Given the description of an element on the screen output the (x, y) to click on. 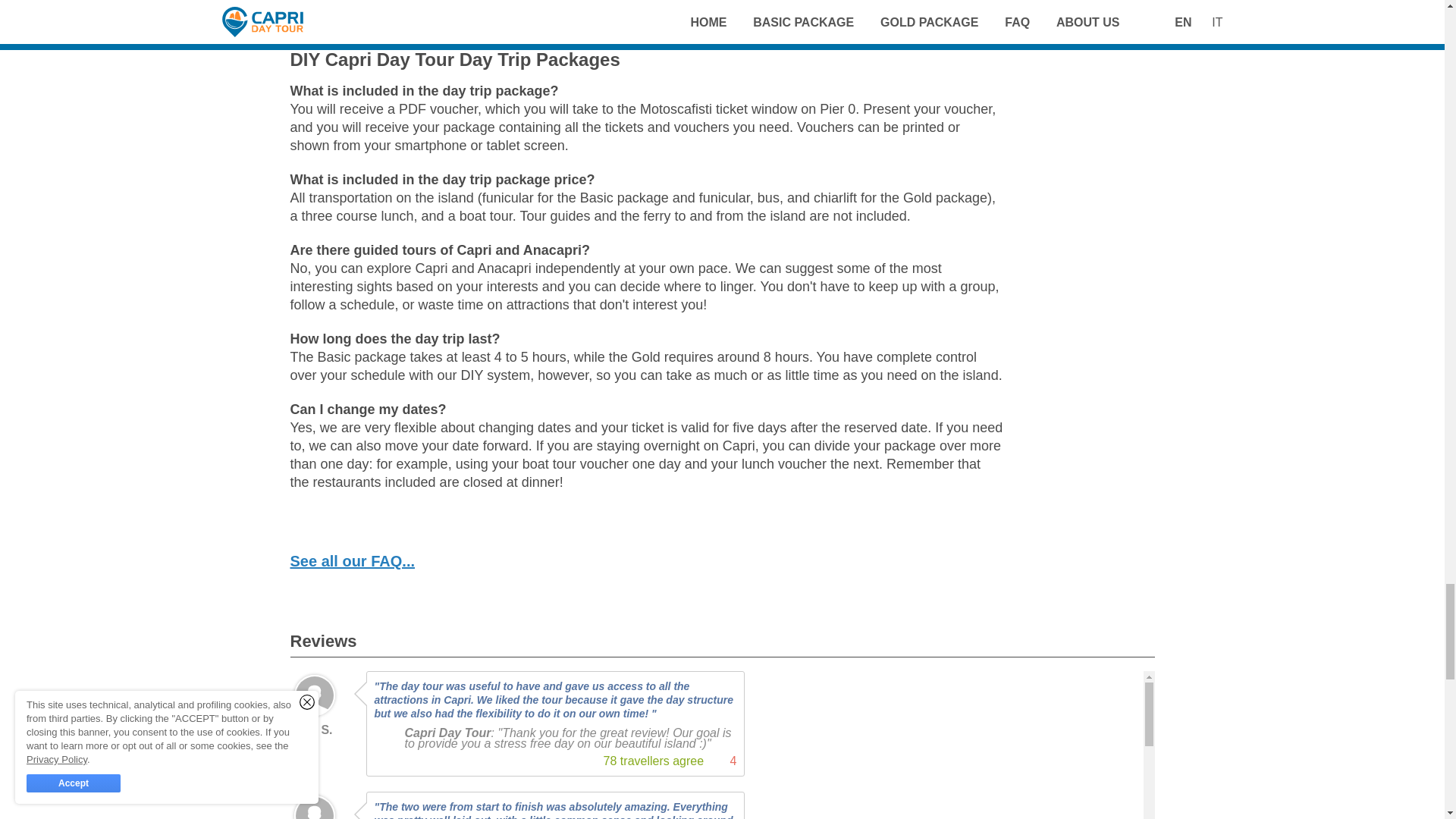
See all our FAQ... (351, 560)
